Given the description of an element on the screen output the (x, y) to click on. 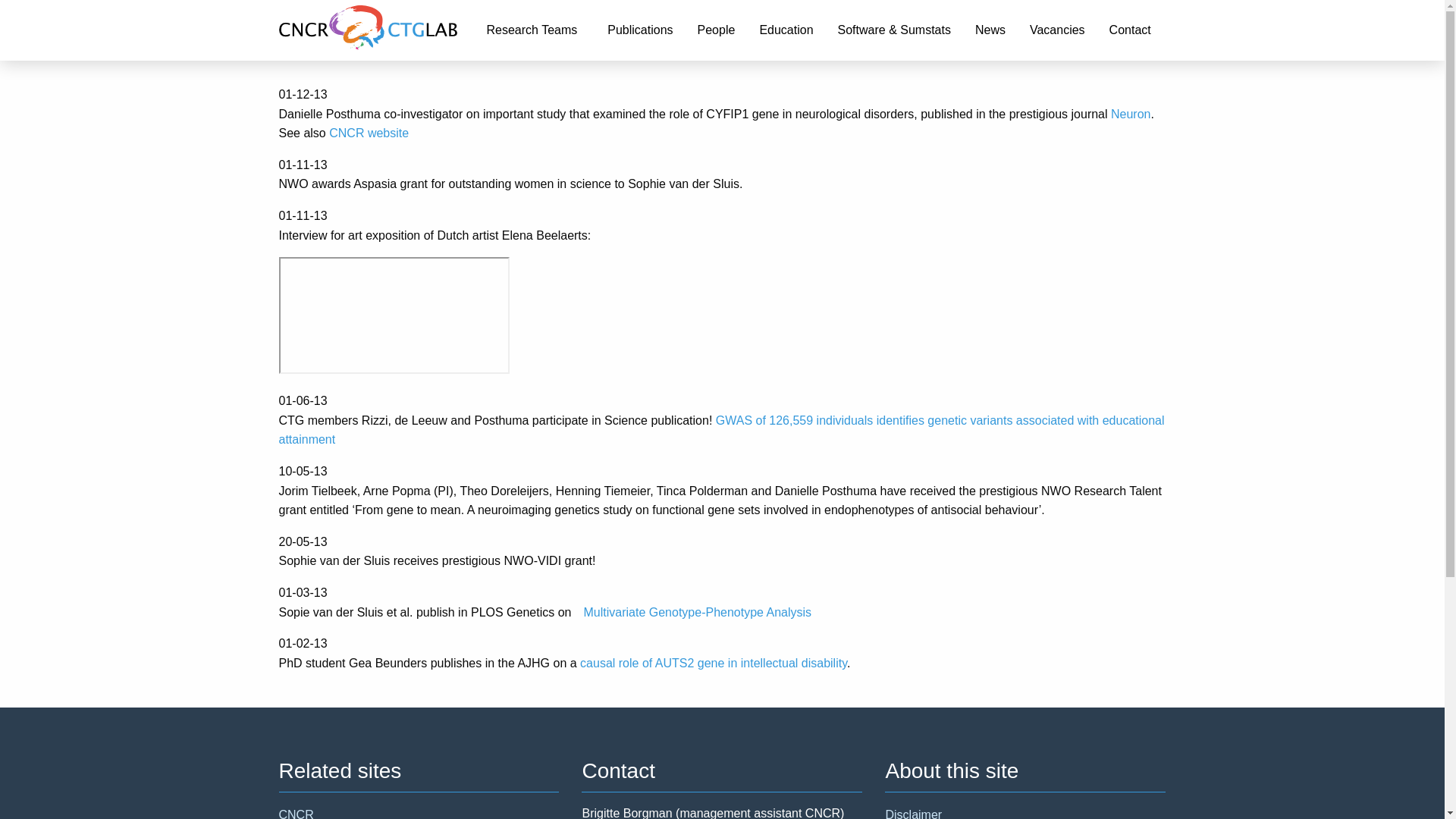
Vacancies (1057, 30)
Neuron (1130, 113)
Research Teams (534, 30)
Link to homepage of CNCR (376, 29)
Publications (639, 30)
Contact (1130, 30)
CNCR website (369, 132)
Education (785, 30)
News (989, 30)
